Given the description of an element on the screen output the (x, y) to click on. 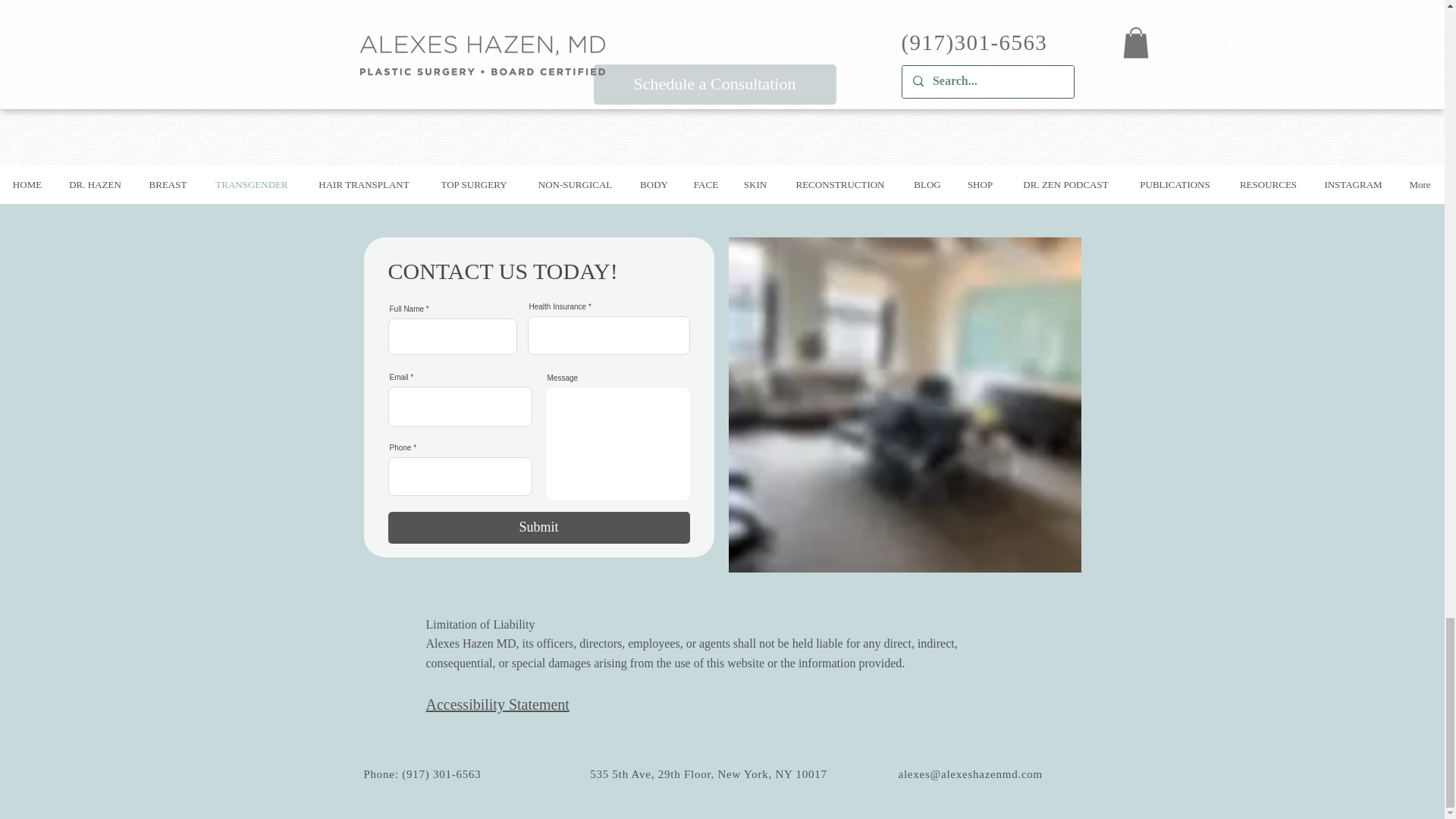
HAIR TRANSPLANT (363, 184)
BREAST (167, 184)
TRANSGENDER (251, 184)
TOP SURGERY (473, 184)
Alexes Hazen Md Office waiting room with view of NYC (904, 404)
HOME (27, 184)
Schedule a Consultation (713, 84)
DR. HAZEN (95, 184)
